Given the description of an element on the screen output the (x, y) to click on. 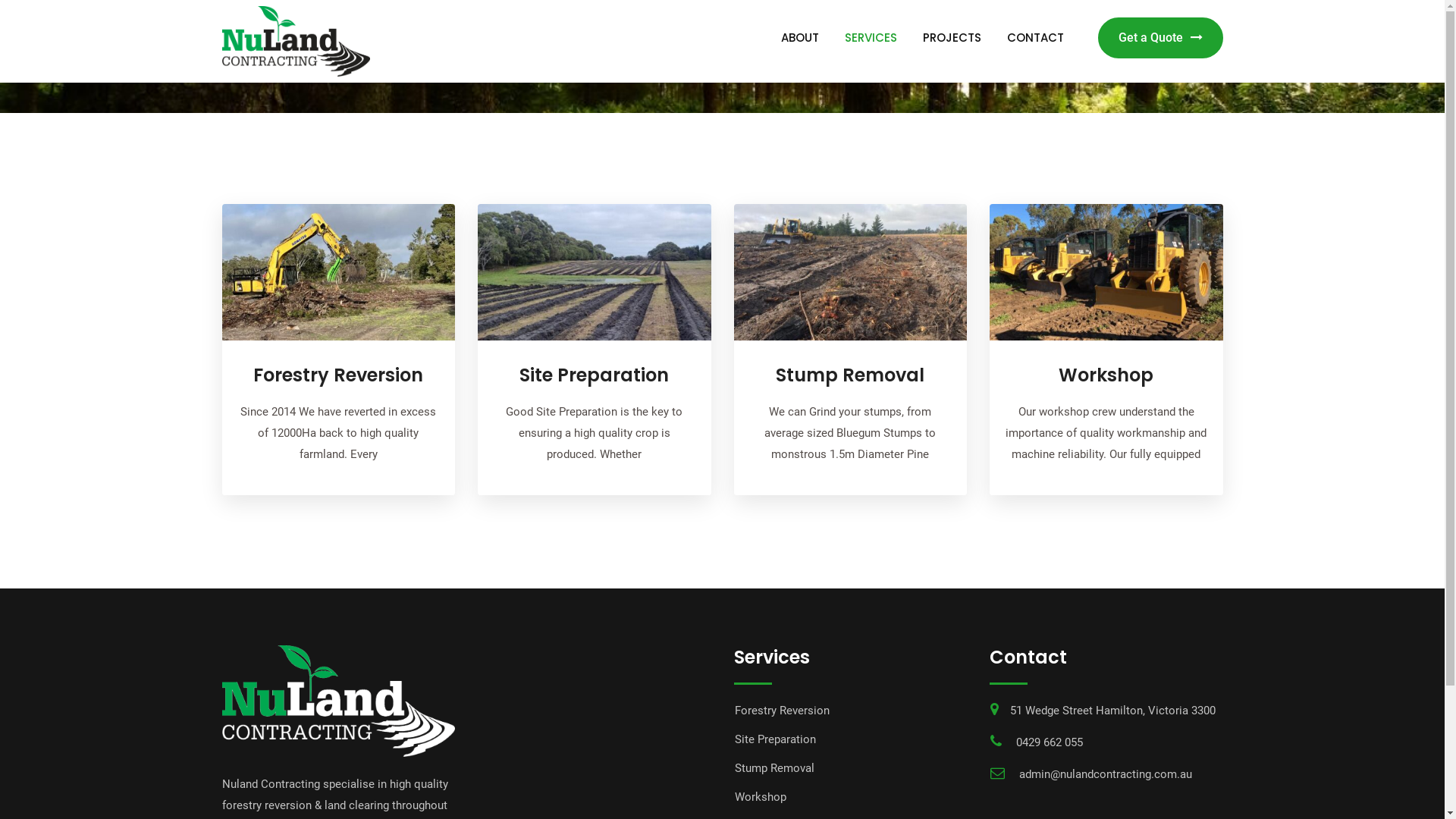
Forestry Reversion Element type: text (338, 374)
Stump Removal Element type: text (849, 374)
SERVICES Element type: text (869, 37)
CONTACT Element type: text (1034, 37)
ABOUT Element type: text (798, 37)
Workshop Element type: text (1105, 374)
PROJECTS Element type: text (951, 37)
Stump Removal Element type: text (773, 768)
Workshop Element type: text (759, 796)
Get a Quote Element type: text (1160, 37)
Site Preparation Element type: text (774, 739)
admin@nulandcontracting.com.au Element type: text (1105, 774)
0429 662 055 Element type: text (1049, 742)
Forestry Reversion Element type: text (781, 710)
Site Preparation Element type: text (593, 374)
